Given the description of an element on the screen output the (x, y) to click on. 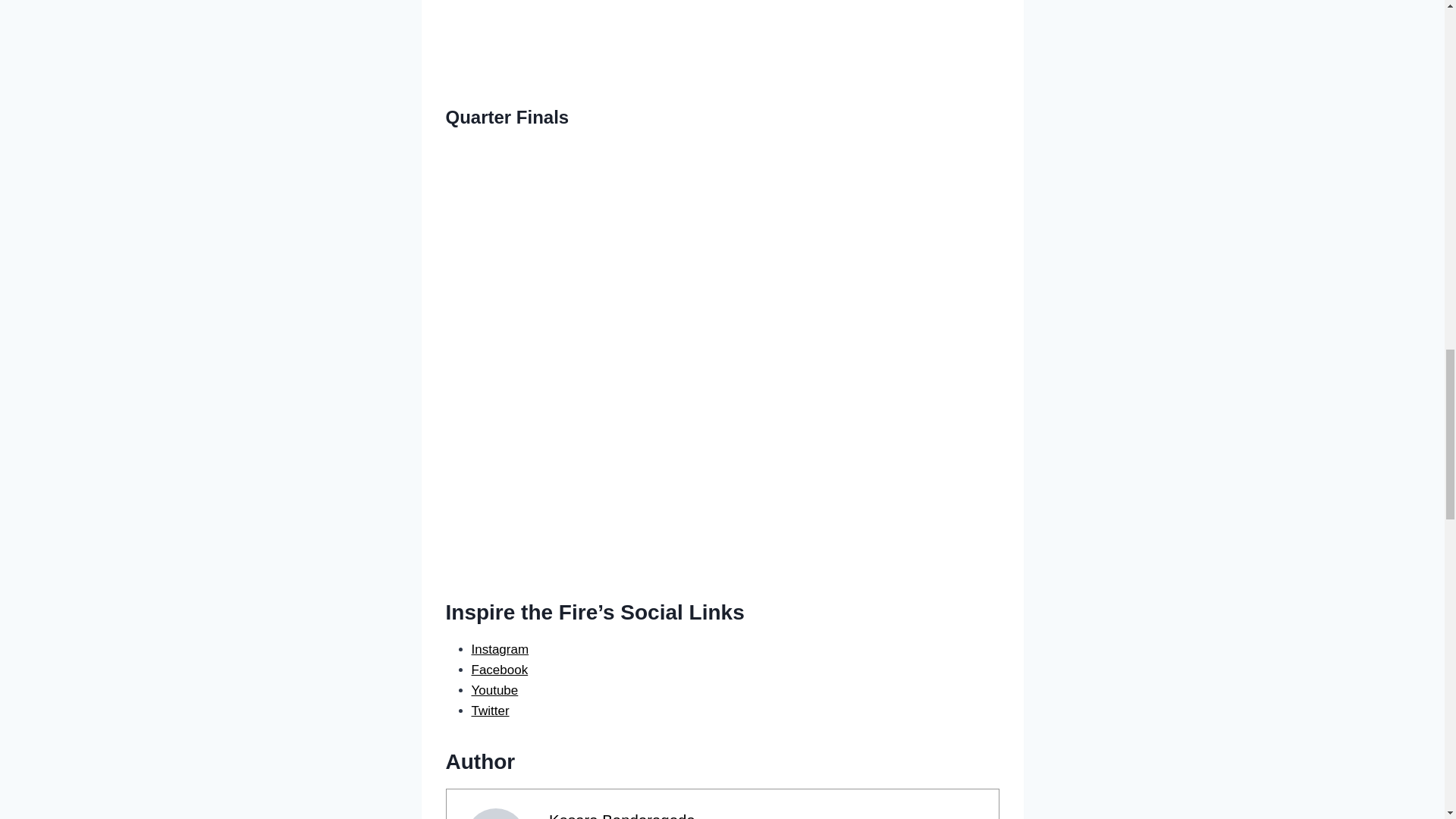
Youtube (494, 690)
Kesara Bandaragoda (621, 815)
Twitter (490, 710)
Kesara Bandaragoda (621, 815)
Facebook (499, 669)
Instagram (500, 649)
